Given the description of an element on the screen output the (x, y) to click on. 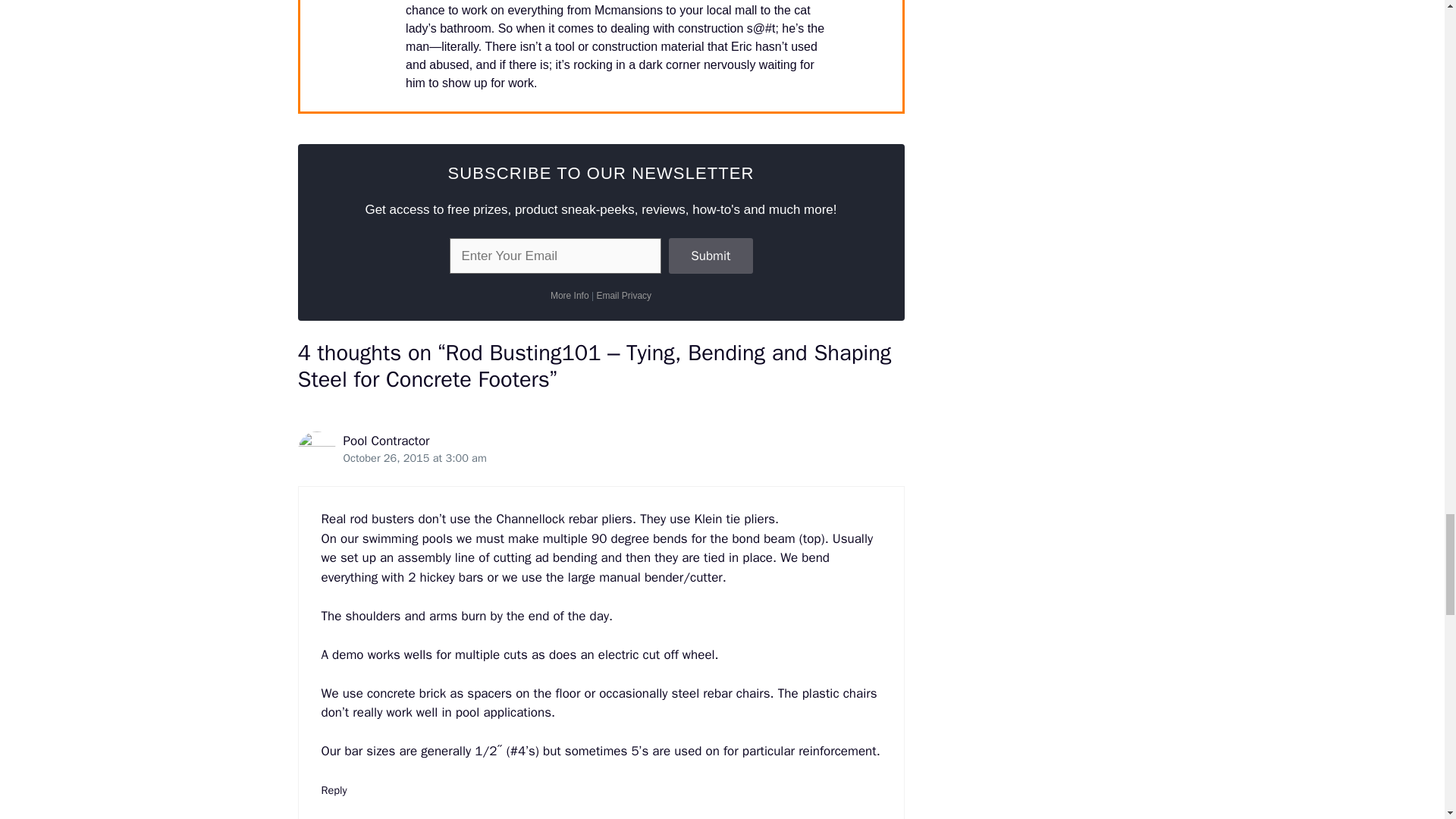
More Info (569, 295)
Email Privacy (622, 295)
Submit (710, 256)
Reply (334, 789)
October 26, 2015 at 3:00 am (414, 458)
Submit (710, 256)
